Given the description of an element on the screen output the (x, y) to click on. 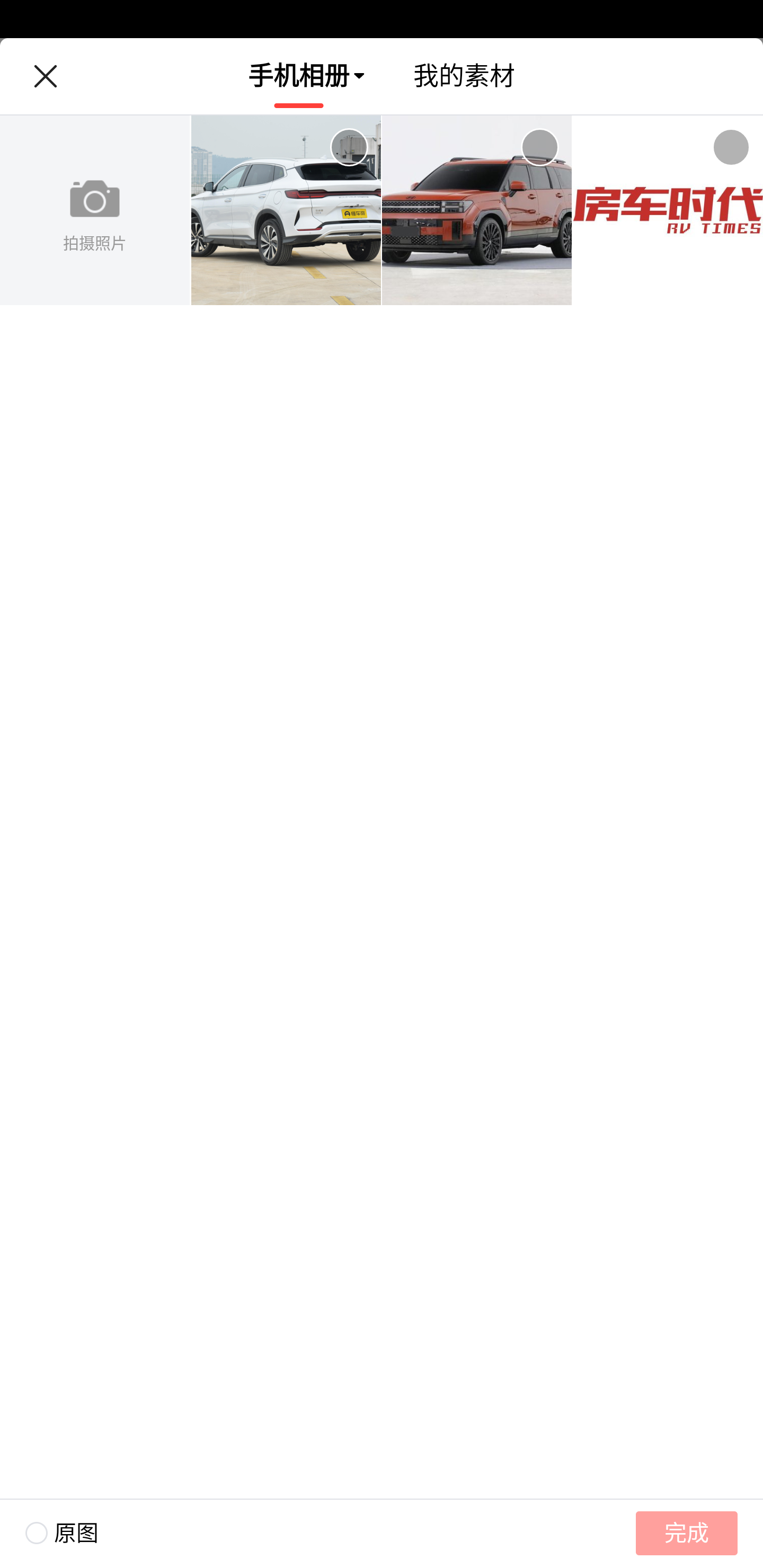
返回 (44, 75)
手机相册 (298, 75)
我的素材 (464, 75)
拍摄照片 (94, 210)
图片1 (285, 210)
未选中 (348, 147)
图片2 (476, 210)
未选中 (539, 147)
图片3 (668, 210)
未选中 (731, 147)
原图 原图 完成 完成 (381, 1533)
原图 (49, 1533)
